Given the description of an element on the screen output the (x, y) to click on. 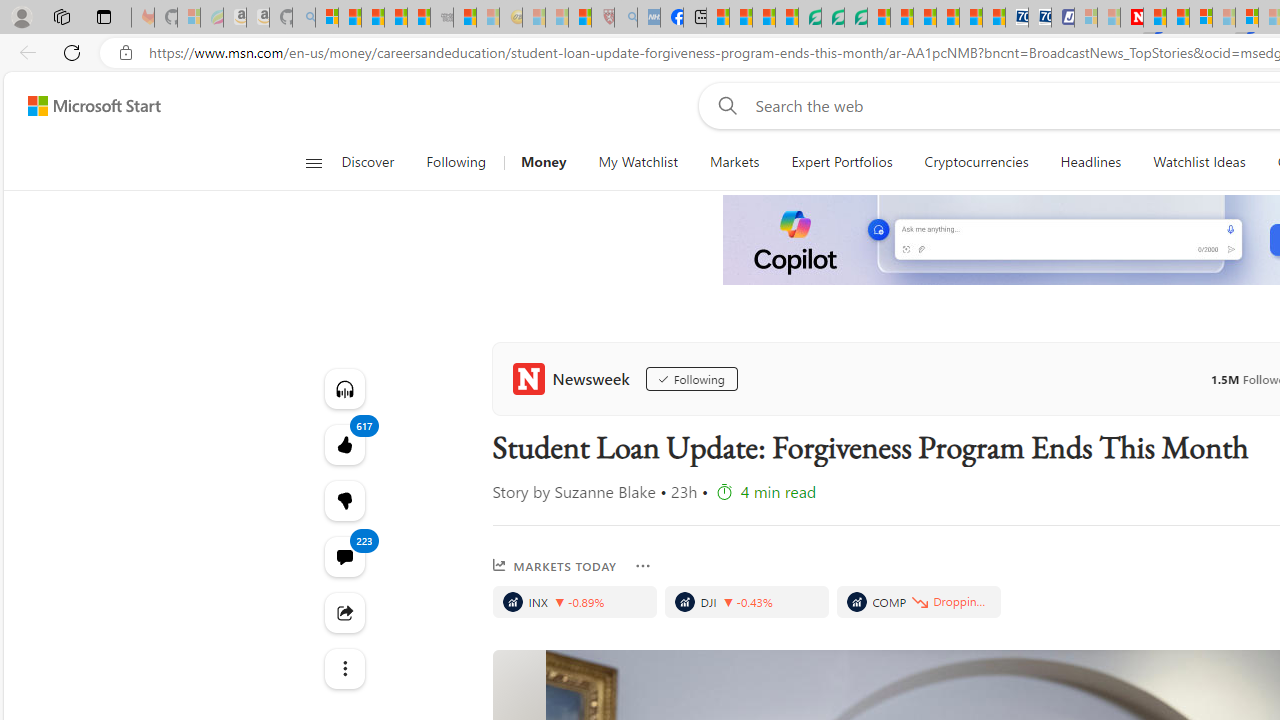
Class: at-item (343, 668)
Recipes - MSN - Sleeping (534, 17)
Dislike (343, 500)
My Watchlist (637, 162)
More Options (642, 565)
Cryptocurrencies (975, 162)
Cryptocurrencies (976, 162)
NCL Adult Asthma Inhaler Choice Guideline - Sleeping (648, 17)
